Given the description of an element on the screen output the (x, y) to click on. 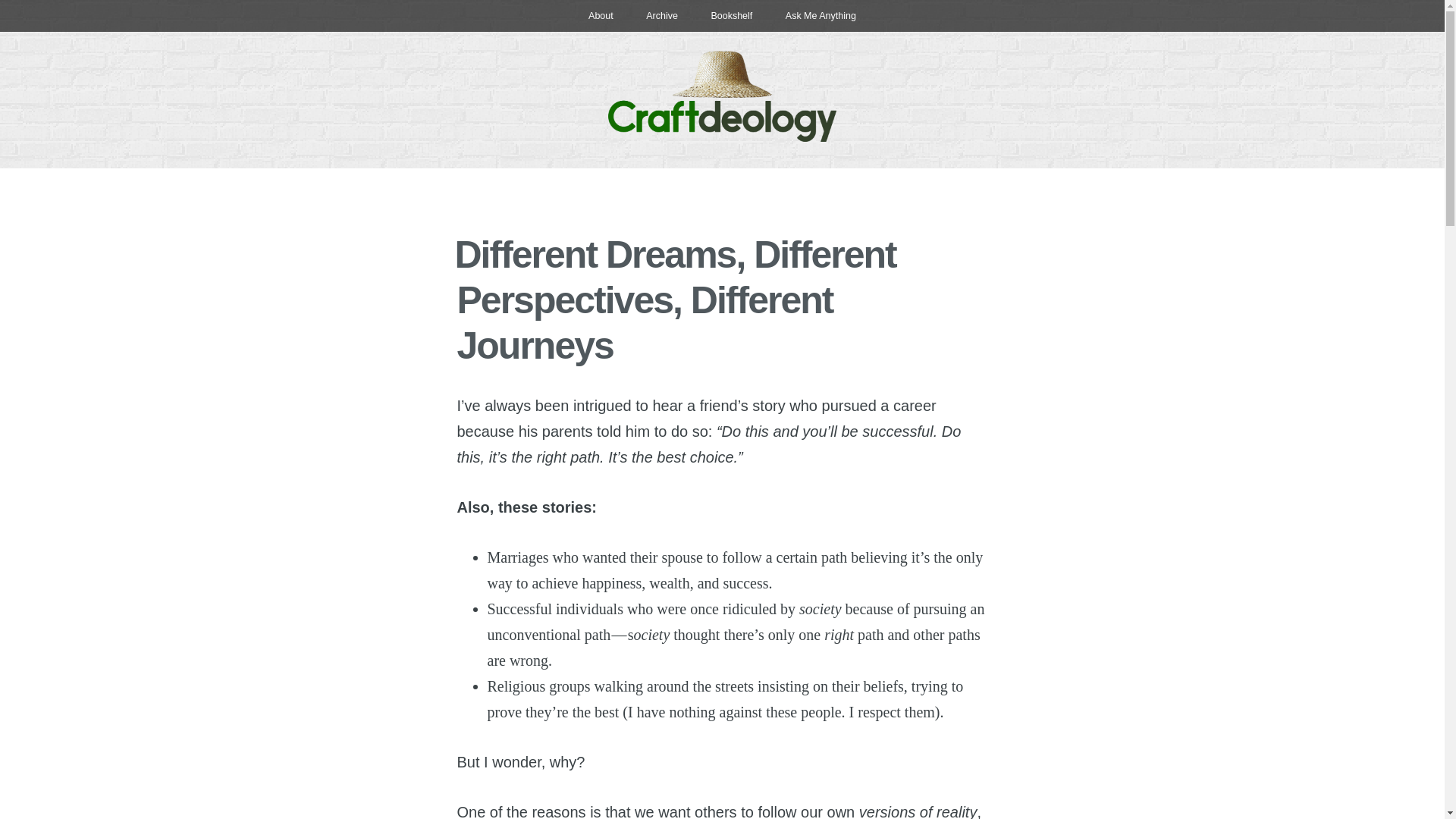
Bookshelf (731, 15)
Ask Me Anything (820, 15)
Archive (661, 15)
Different Dreams, Different Perspectives, Different Journeys (675, 299)
About (600, 15)
Skip to content (15, 2)
